Given the description of an element on the screen output the (x, y) to click on. 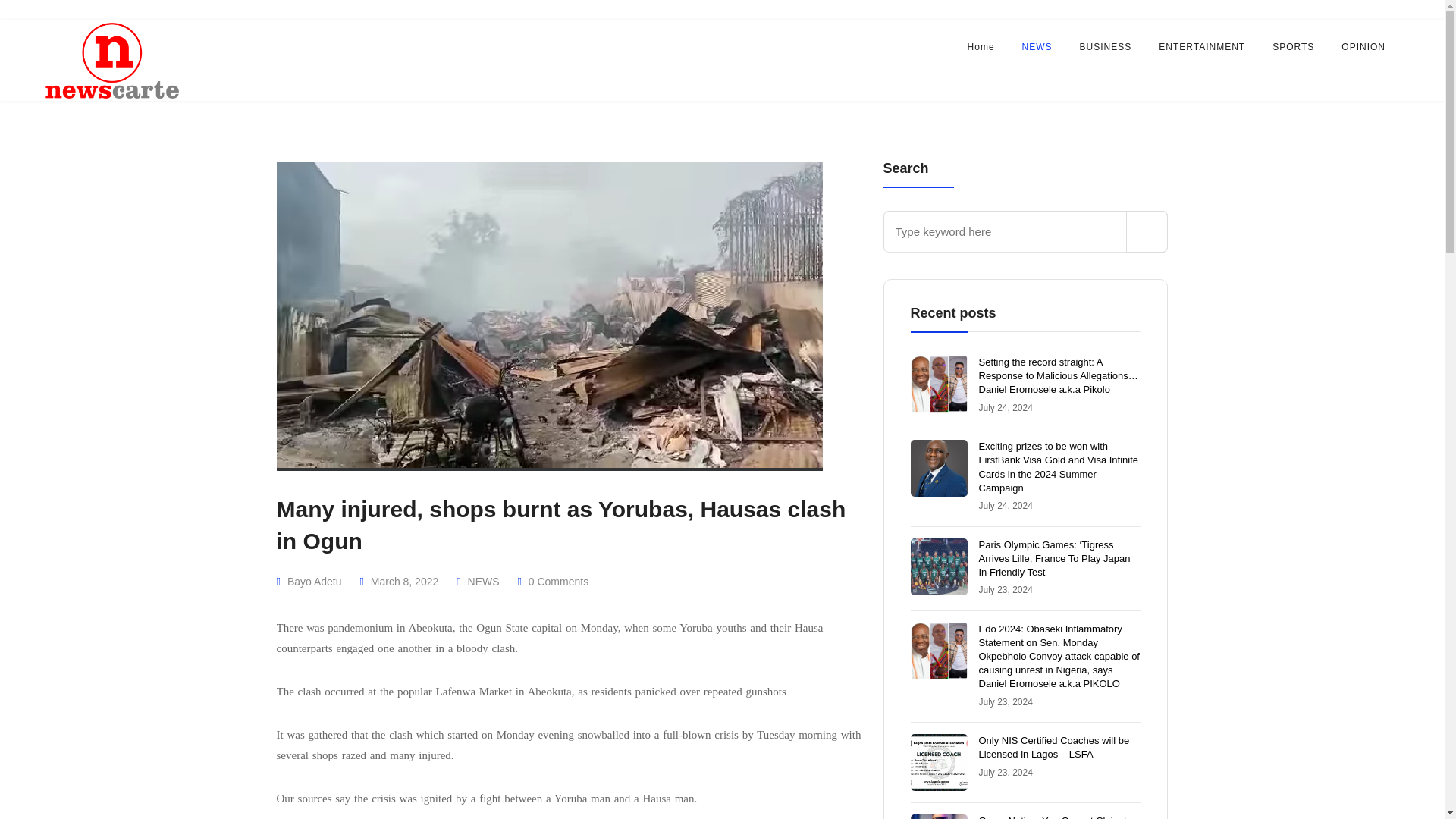
10:46 am (1005, 407)
July 23, 2024 (1005, 589)
Posts by Bayo Adetu (314, 581)
July 23, 2024 (1005, 701)
7:23 am (1005, 772)
BUSINESS (1105, 47)
July 23, 2024 (1005, 772)
OPINION (1363, 47)
10:40 am (1005, 505)
NEWS (1037, 47)
ENTERTAINMENT (1201, 47)
NEWS (483, 581)
Home (981, 47)
